Given the description of an element on the screen output the (x, y) to click on. 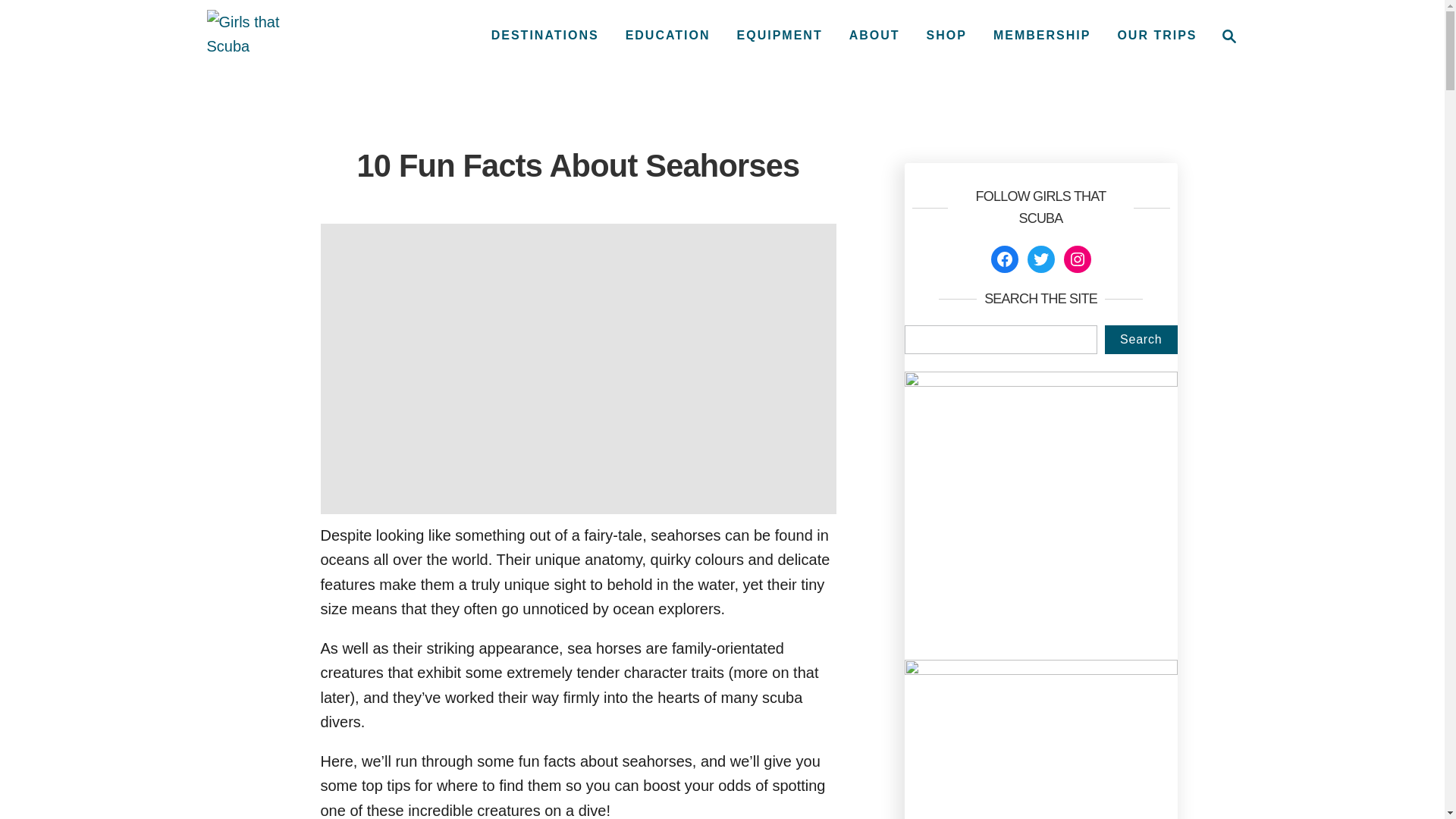
SHOP (946, 35)
EDUCATION (667, 35)
Girls that Scuba (257, 35)
Instagram (1076, 258)
Magnifying Glass (1228, 36)
ABOUT (874, 35)
EQUIPMENT (779, 35)
MEMBERSHIP (1041, 35)
Facebook (1003, 258)
Twitter (1040, 258)
